Given the description of an element on the screen output the (x, y) to click on. 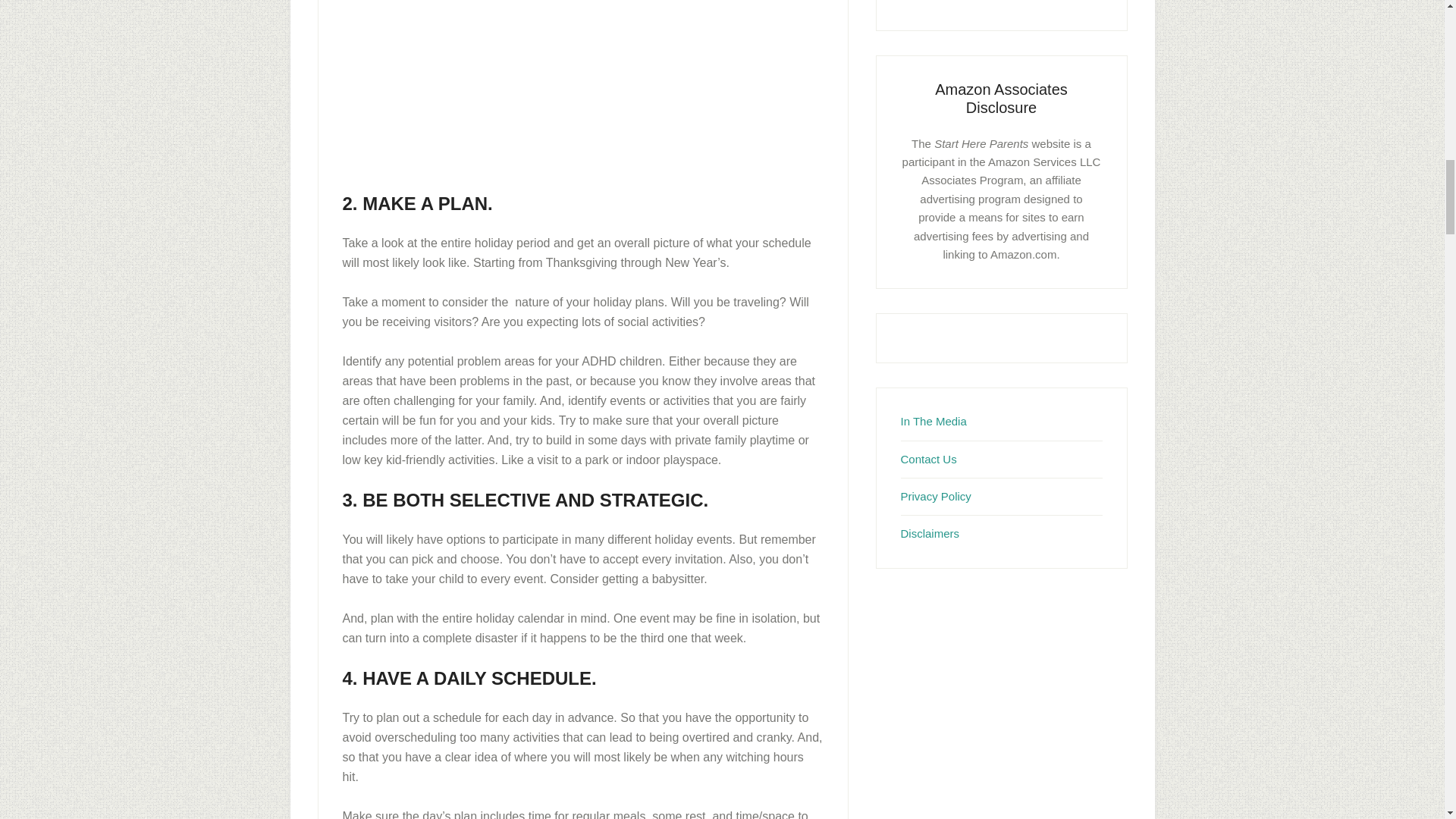
In The Media (933, 420)
Privacy Policy (936, 495)
Contact Us (928, 459)
Disclaimers (930, 533)
